Given the description of an element on the screen output the (x, y) to click on. 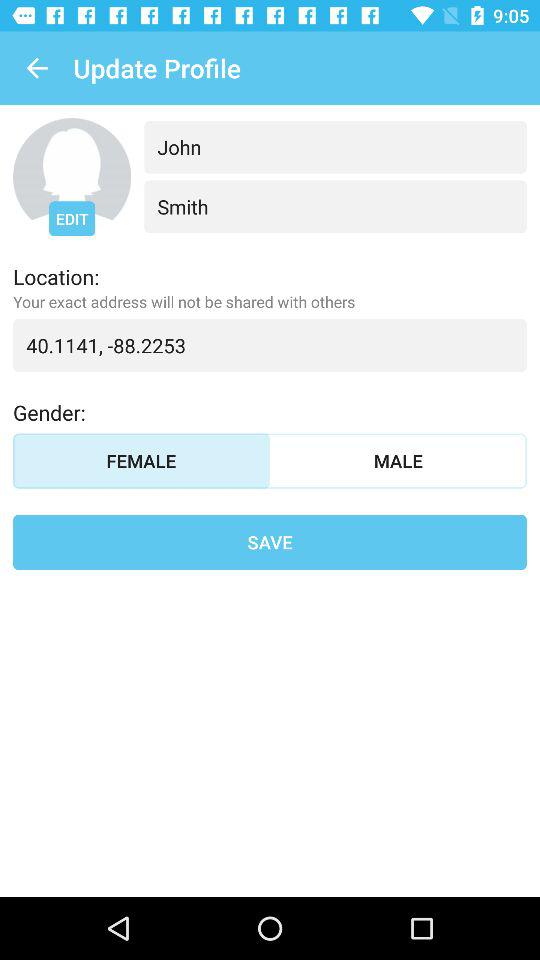
scroll until the 40 1141 88 (269, 345)
